Given the description of an element on the screen output the (x, y) to click on. 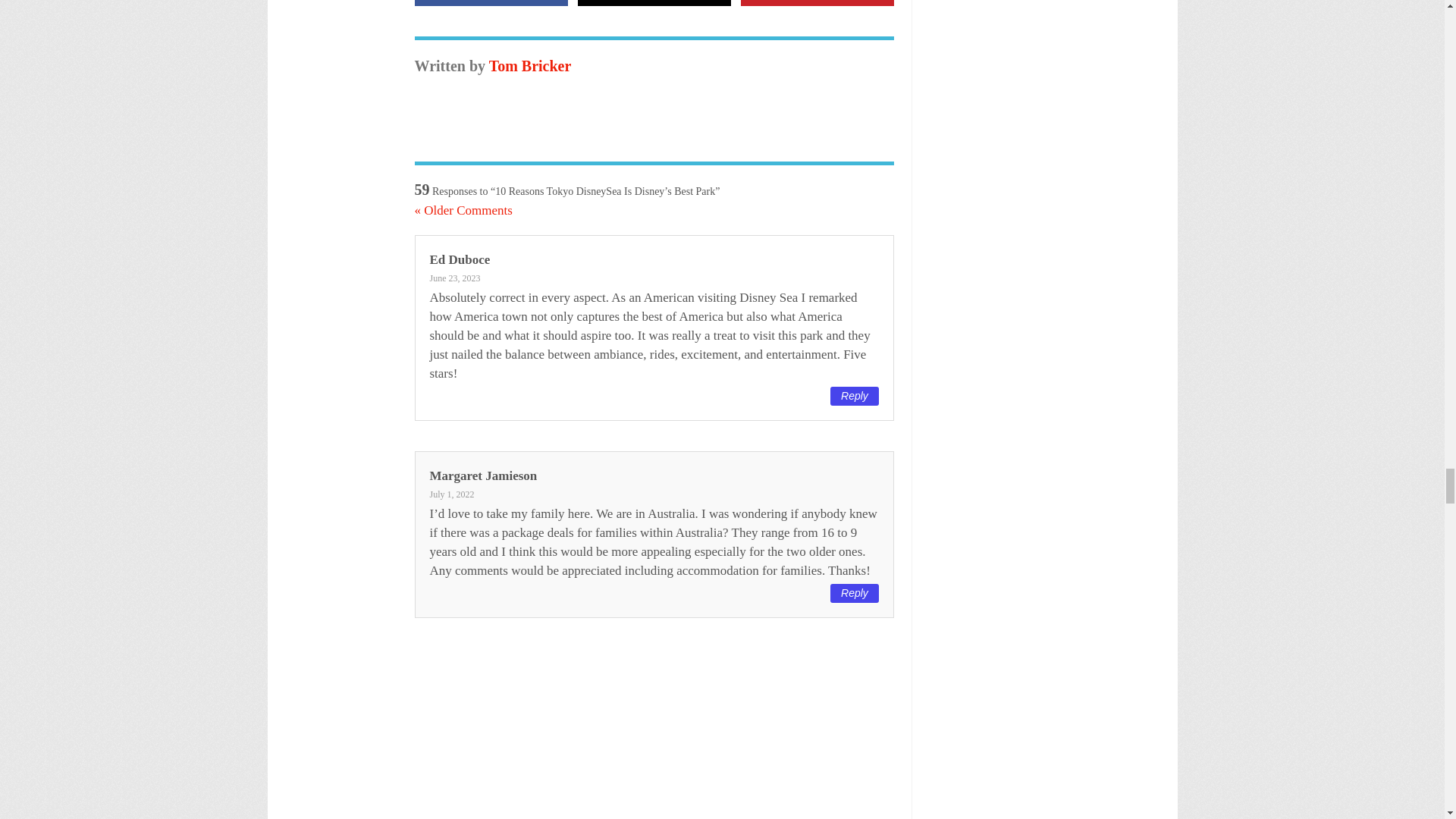
Save to Pinterest (818, 2)
Share on Facebook (490, 2)
Share on X (655, 2)
